Given the description of an element on the screen output the (x, y) to click on. 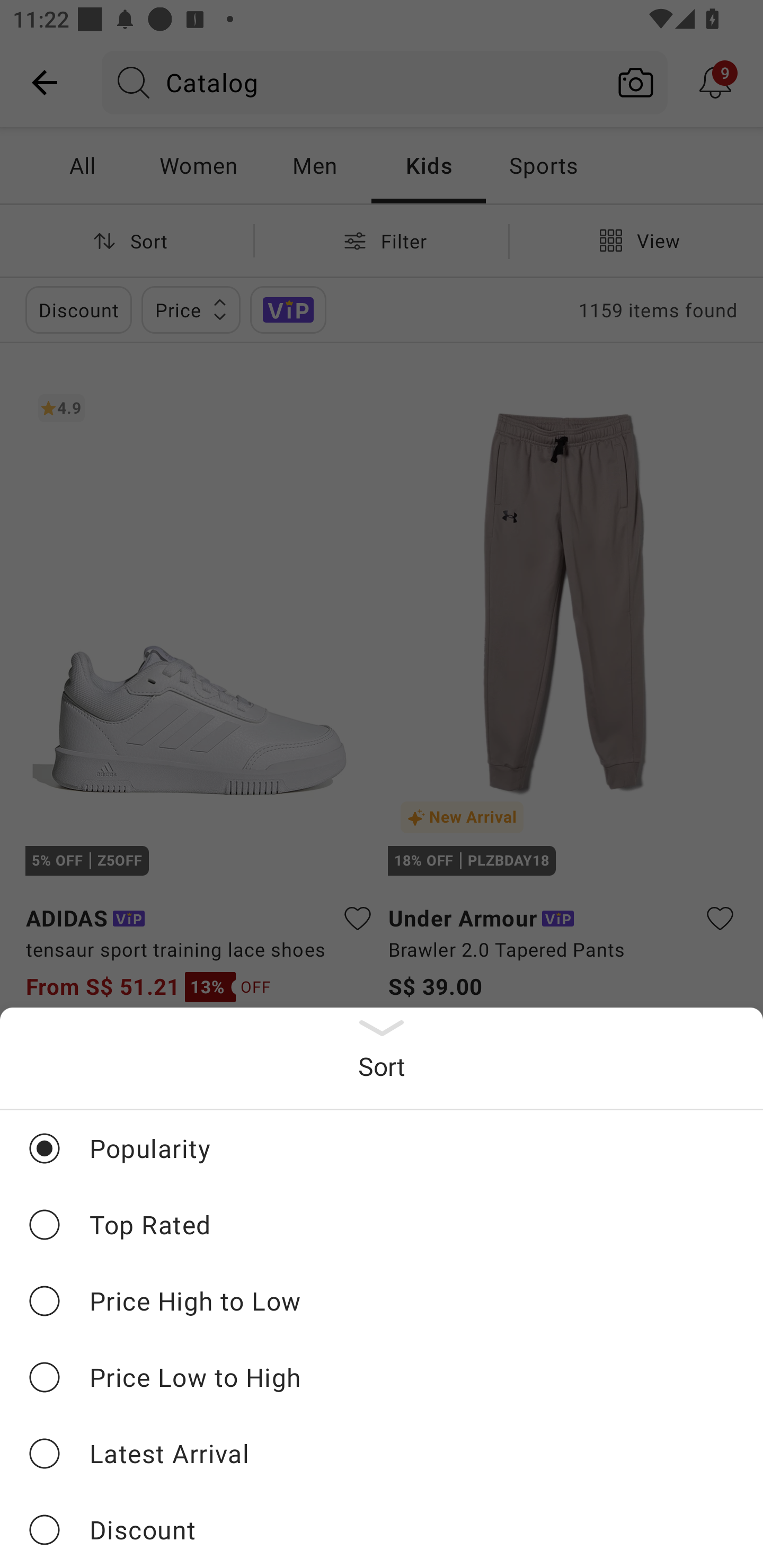
Popularity (381, 1148)
Top Rated (381, 1224)
Price High to Low (381, 1300)
Price Low to High (381, 1377)
Latest Arrival (381, 1453)
Discount (381, 1529)
